Given the description of an element on the screen output the (x, y) to click on. 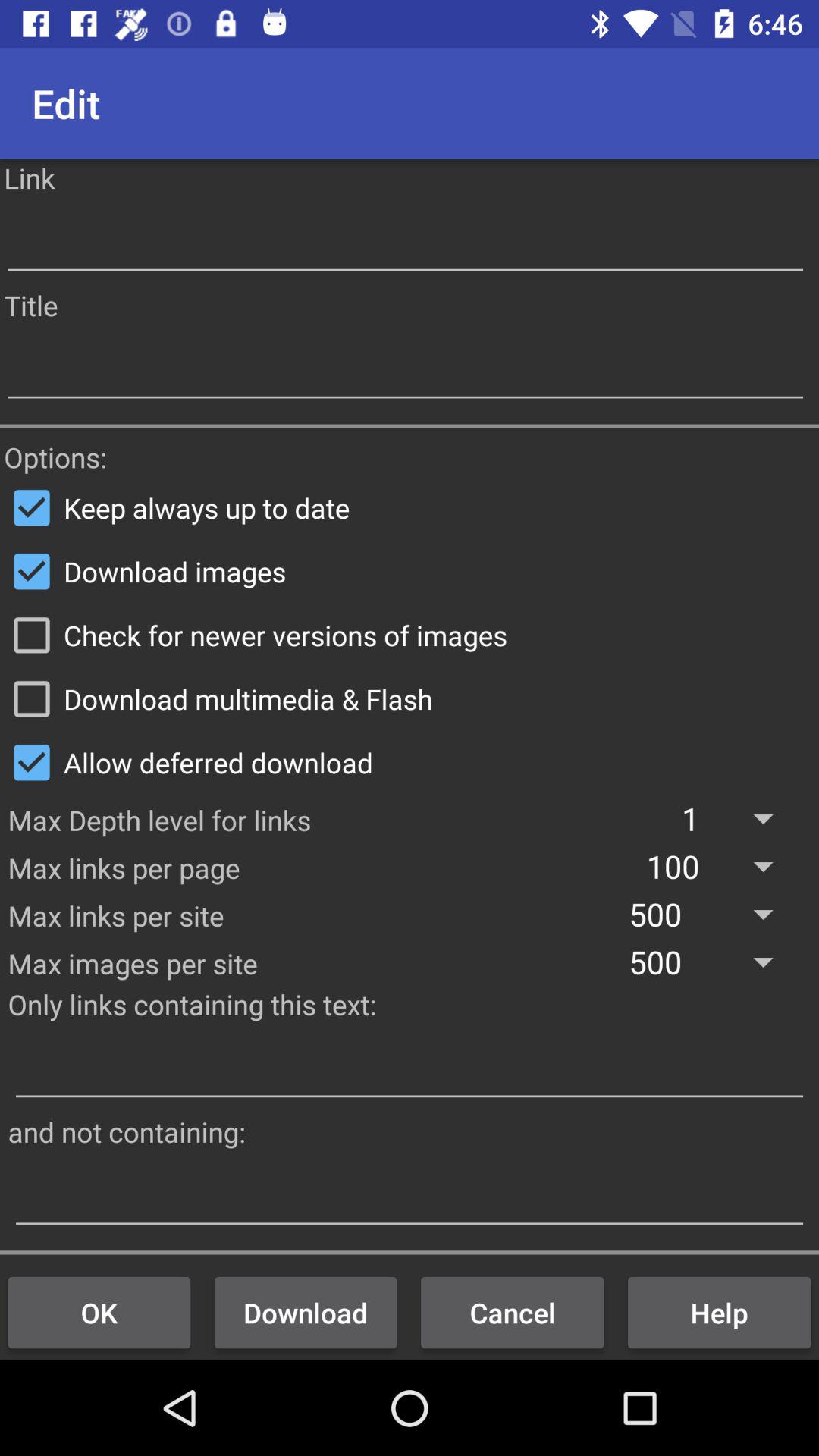
included text (409, 1068)
